Given the description of an element on the screen output the (x, y) to click on. 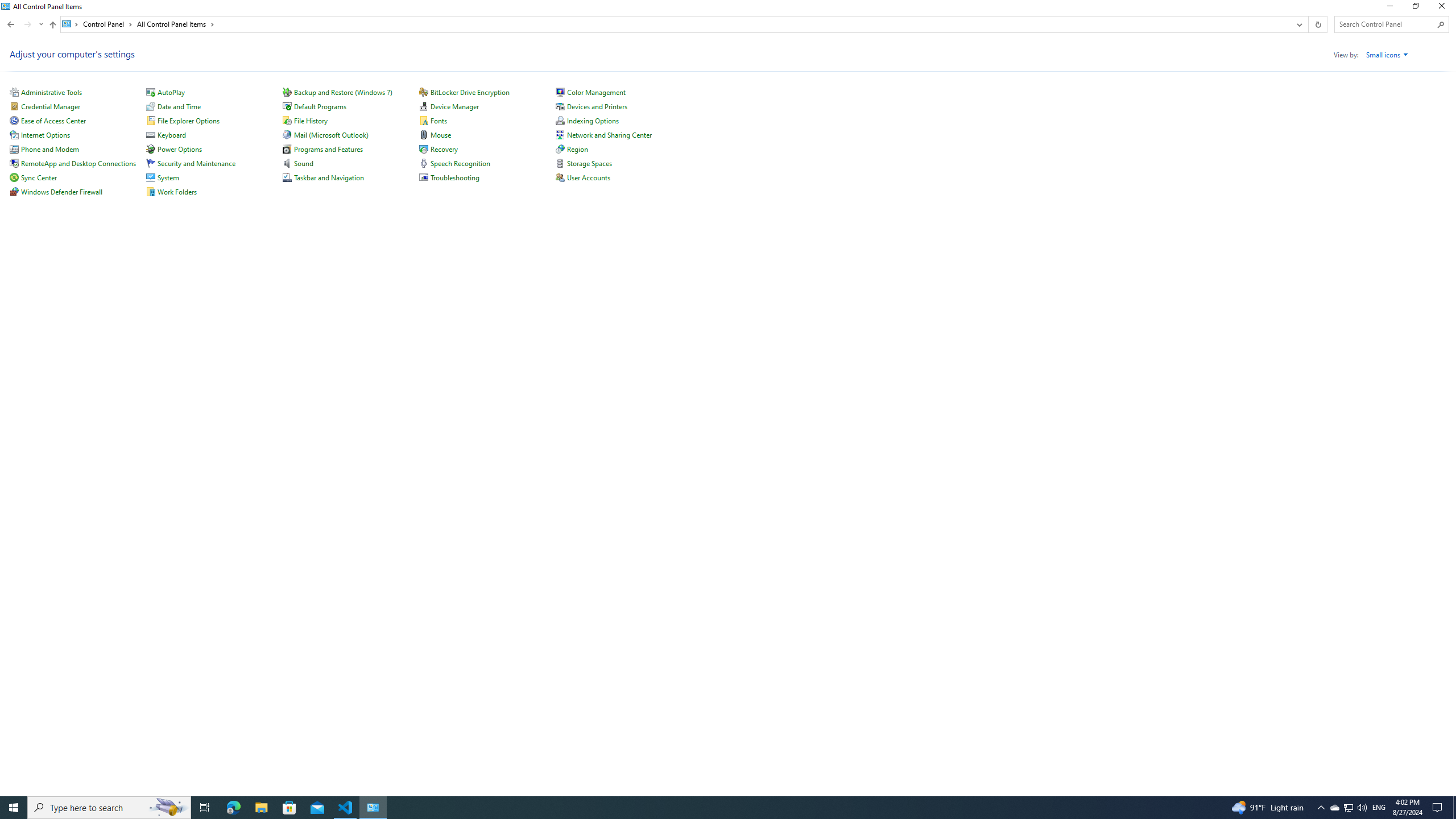
Troubleshooting (454, 177)
Region (577, 148)
User Accounts (588, 177)
All Control Panel Items (175, 23)
